Given the description of an element on the screen output the (x, y) to click on. 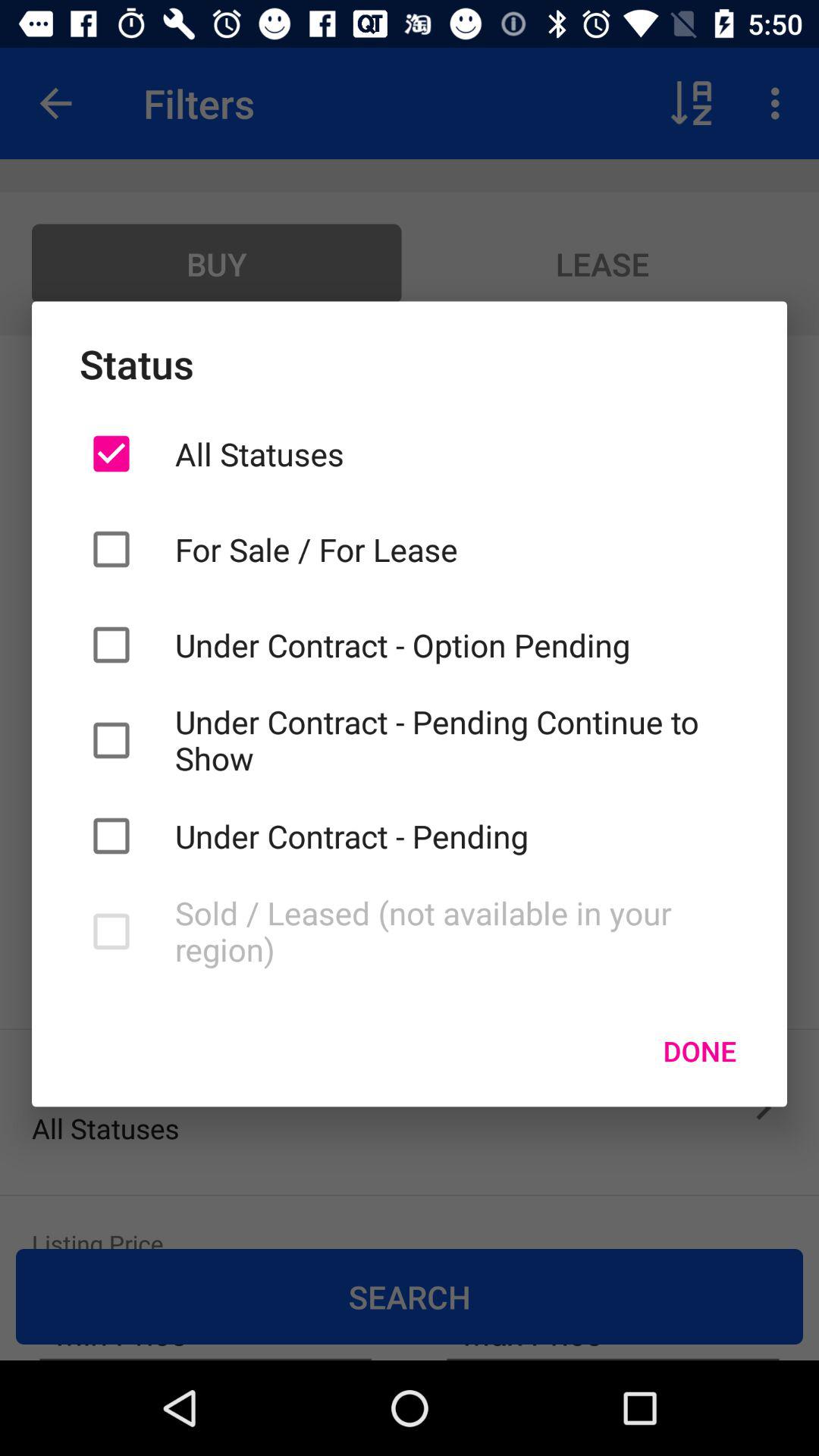
choose the item above under contract option icon (457, 549)
